Given the description of an element on the screen output the (x, y) to click on. 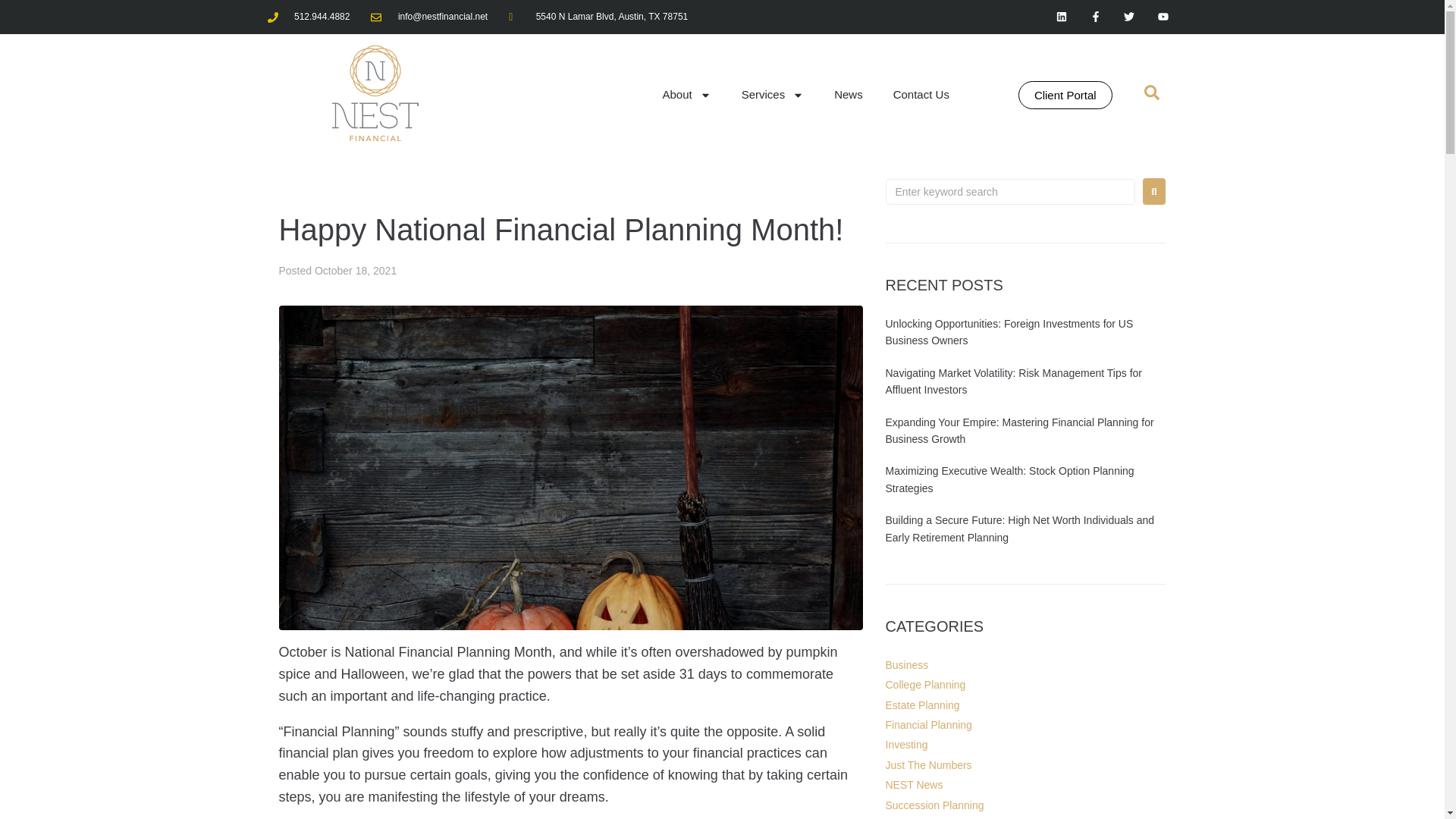
Client Portal (1064, 94)
